Given the description of an element on the screen output the (x, y) to click on. 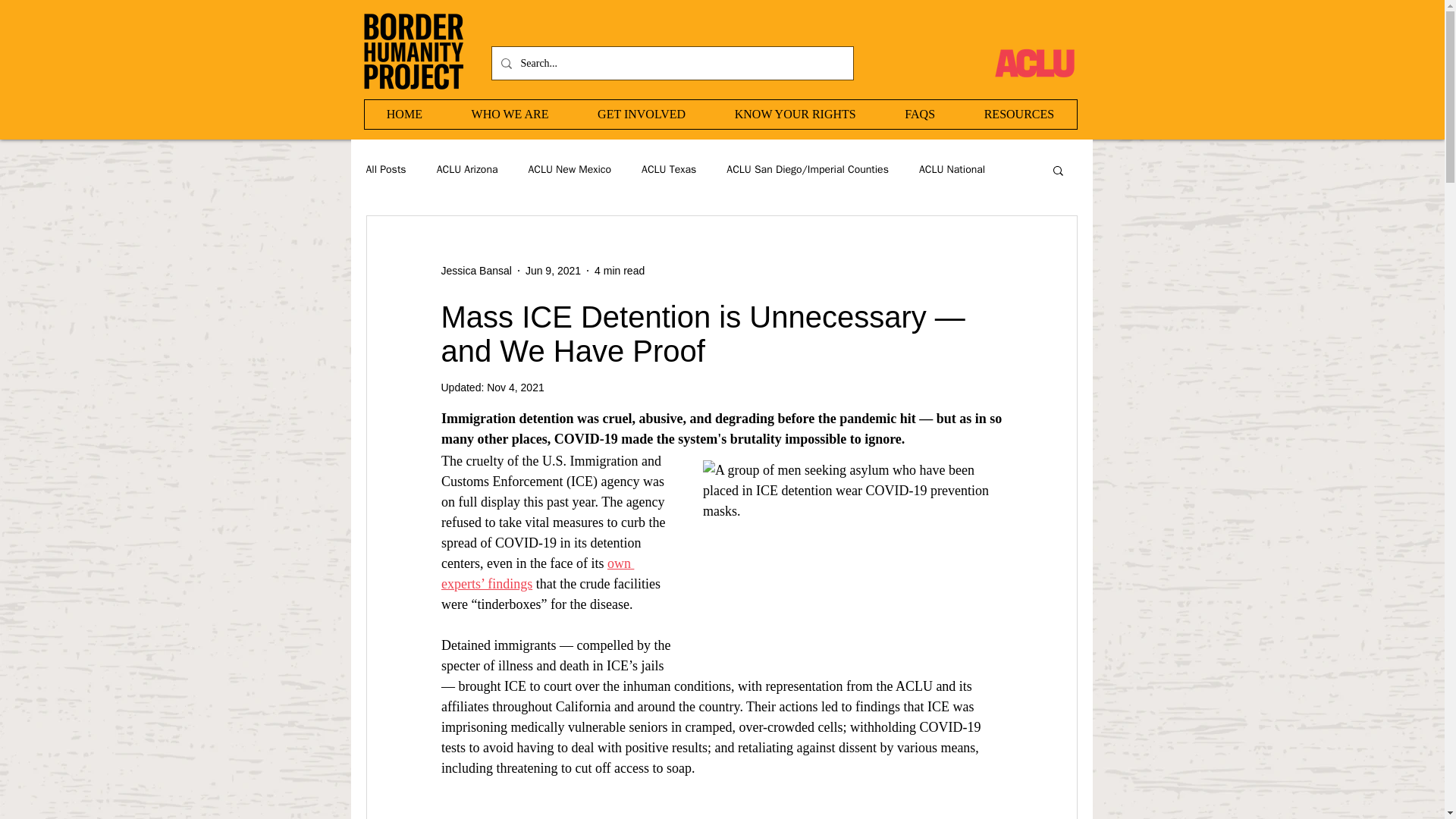
FAQS (919, 113)
Nov 4, 2021 (515, 387)
WHO WE ARE (509, 113)
ACLU Texas (668, 169)
HOME (404, 113)
4 min read (619, 269)
Jun 9, 2021 (552, 269)
ACLU Arizona (466, 169)
Jessica Bansal (476, 270)
All Posts (385, 169)
GET INVOLVED (641, 113)
ACLU New Mexico (569, 169)
KNOW YOUR RIGHTS (794, 113)
RESOURCES (1017, 113)
ACLU National (951, 169)
